Given the description of an element on the screen output the (x, y) to click on. 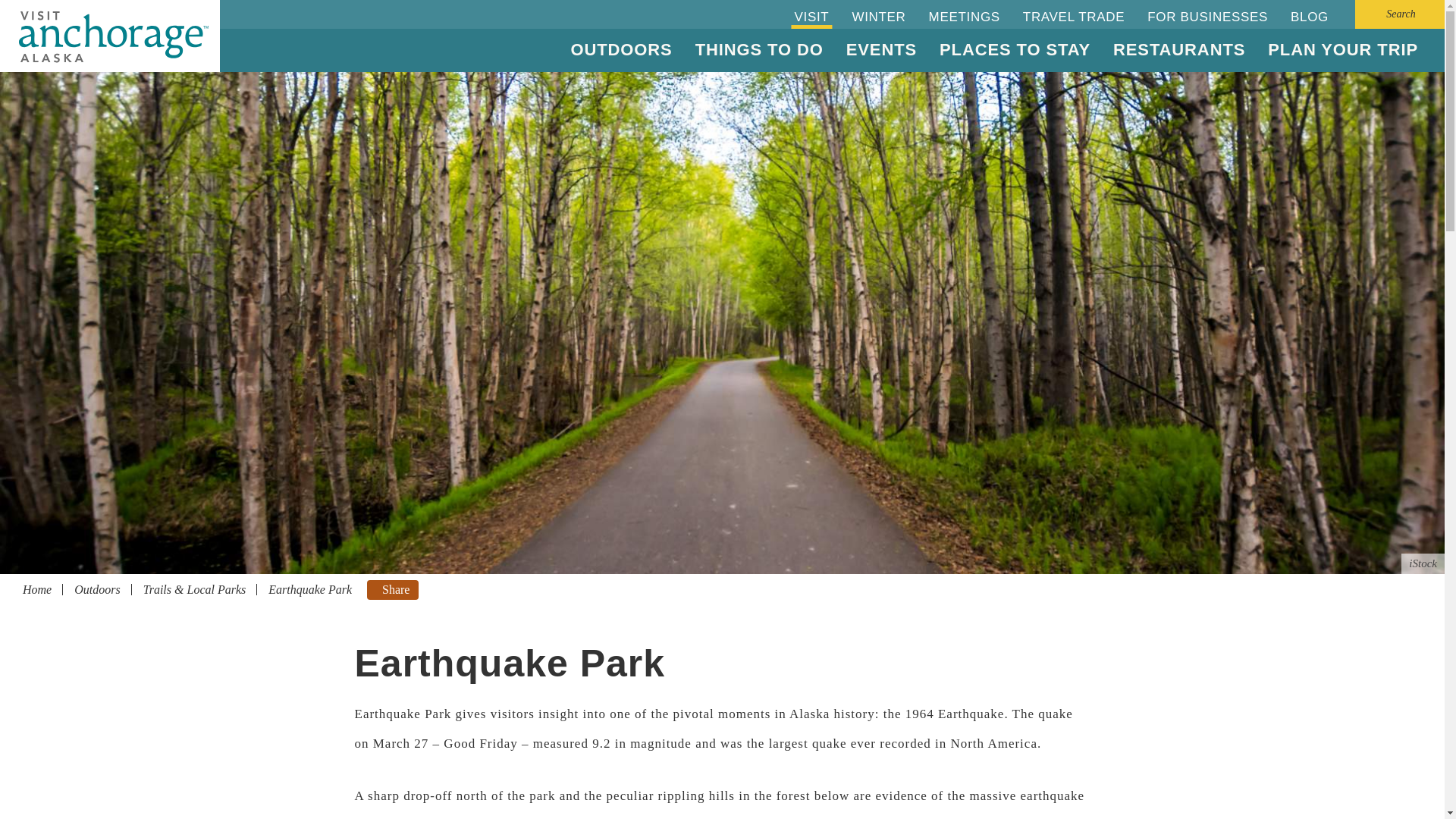
BLOG (1309, 16)
MEETINGS (964, 16)
WINTER (878, 16)
TRAVEL TRADE (1073, 16)
RESTAURANTS (1179, 50)
PLAN YOUR TRIP (1342, 50)
EVENTS (881, 50)
VISIT (812, 16)
THINGS TO DO (759, 50)
OUTDOORS (621, 50)
PLACES TO STAY (1015, 50)
FOR BUSINESSES (1207, 16)
